Given the description of an element on the screen output the (x, y) to click on. 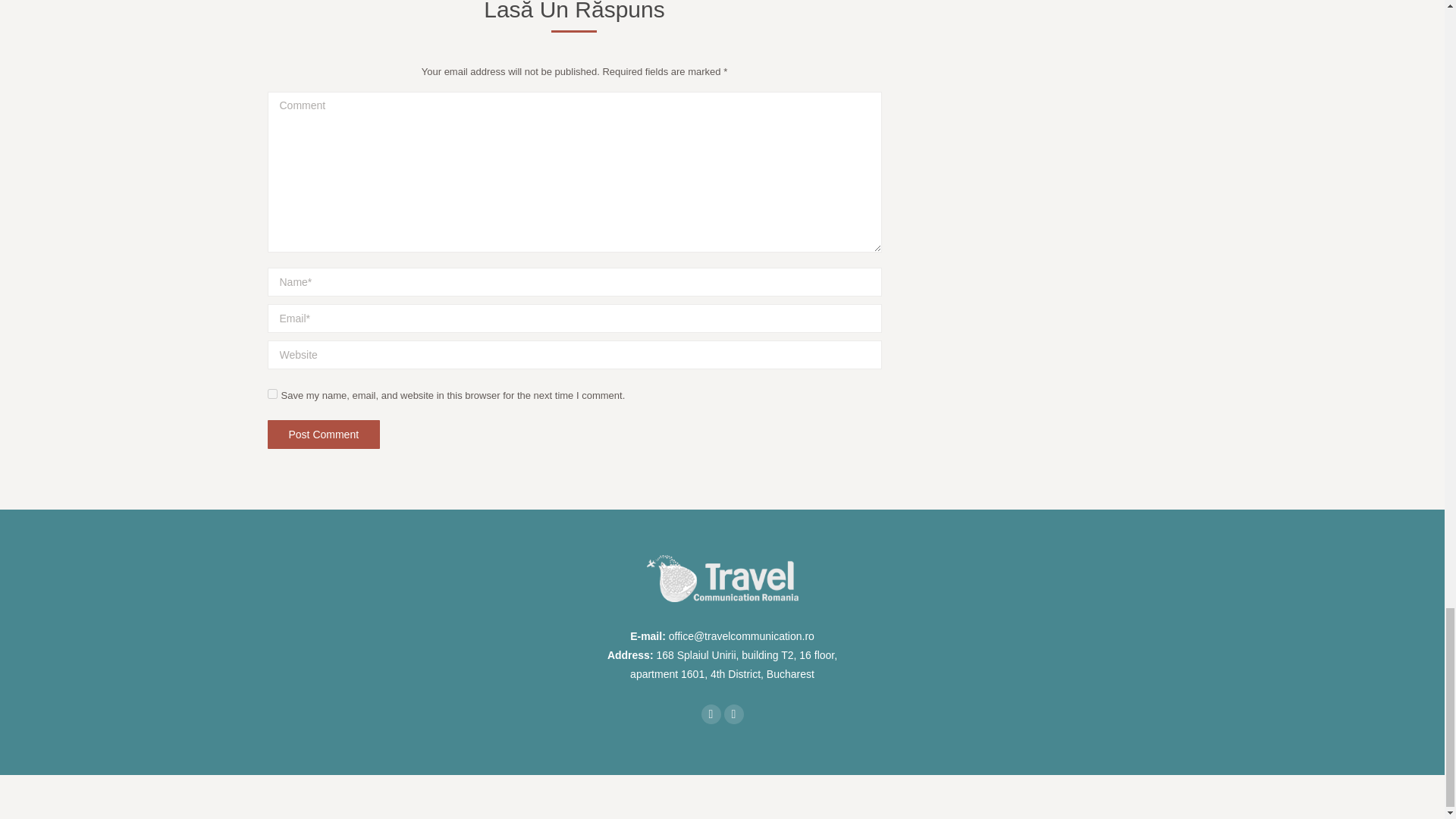
Instagram page opens in new window (732, 713)
Facebook page opens in new window (710, 713)
yes (271, 393)
